Given the description of an element on the screen output the (x, y) to click on. 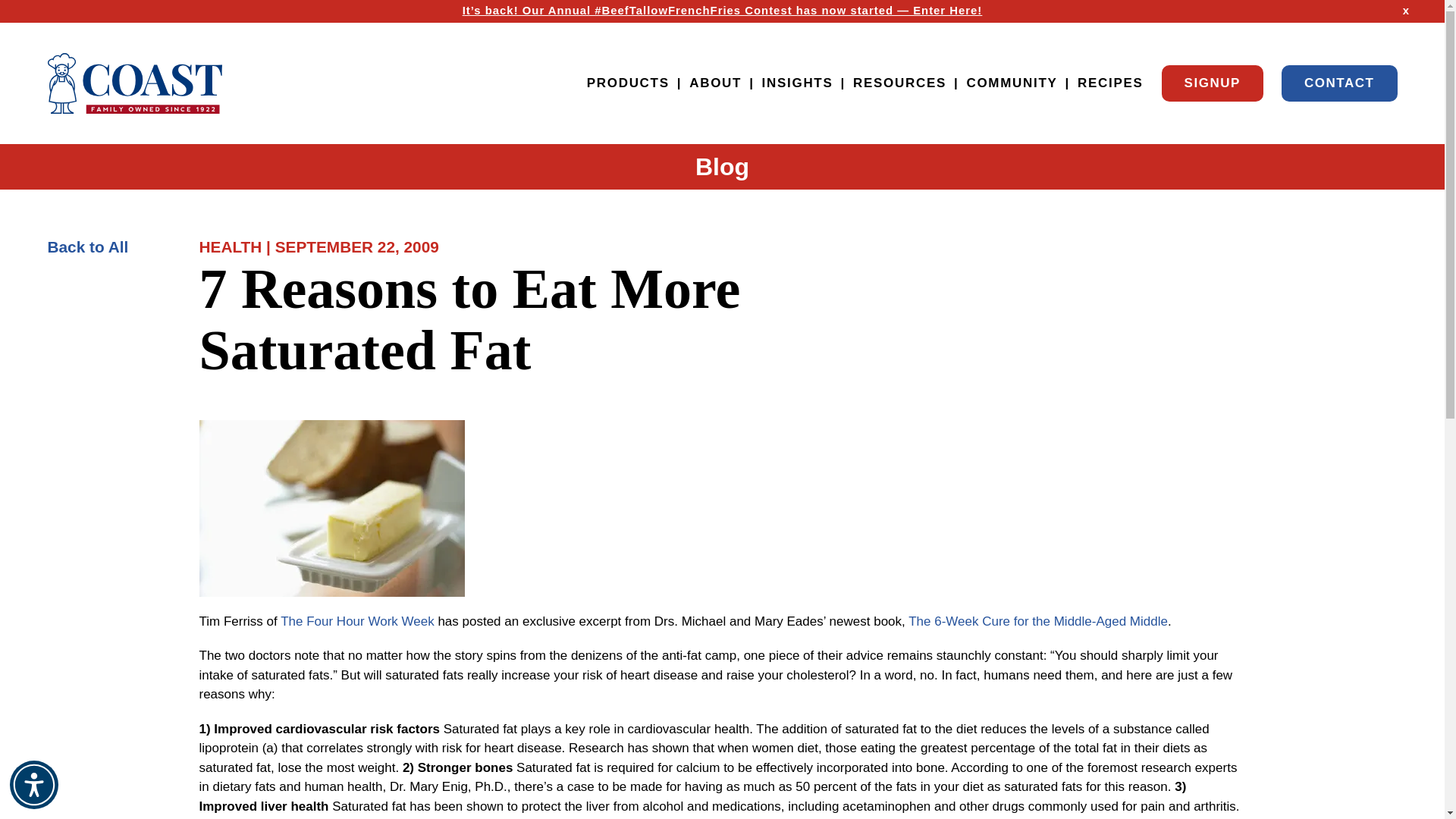
SIGNUP (1212, 82)
The Four Hour Work Week (357, 621)
x (1405, 11)
Back to All (87, 246)
CONTACT (1339, 82)
The 6-Week Cure for the Middle-Aged Middle (1037, 621)
Accessibility Menu (34, 784)
